Given the description of an element on the screen output the (x, y) to click on. 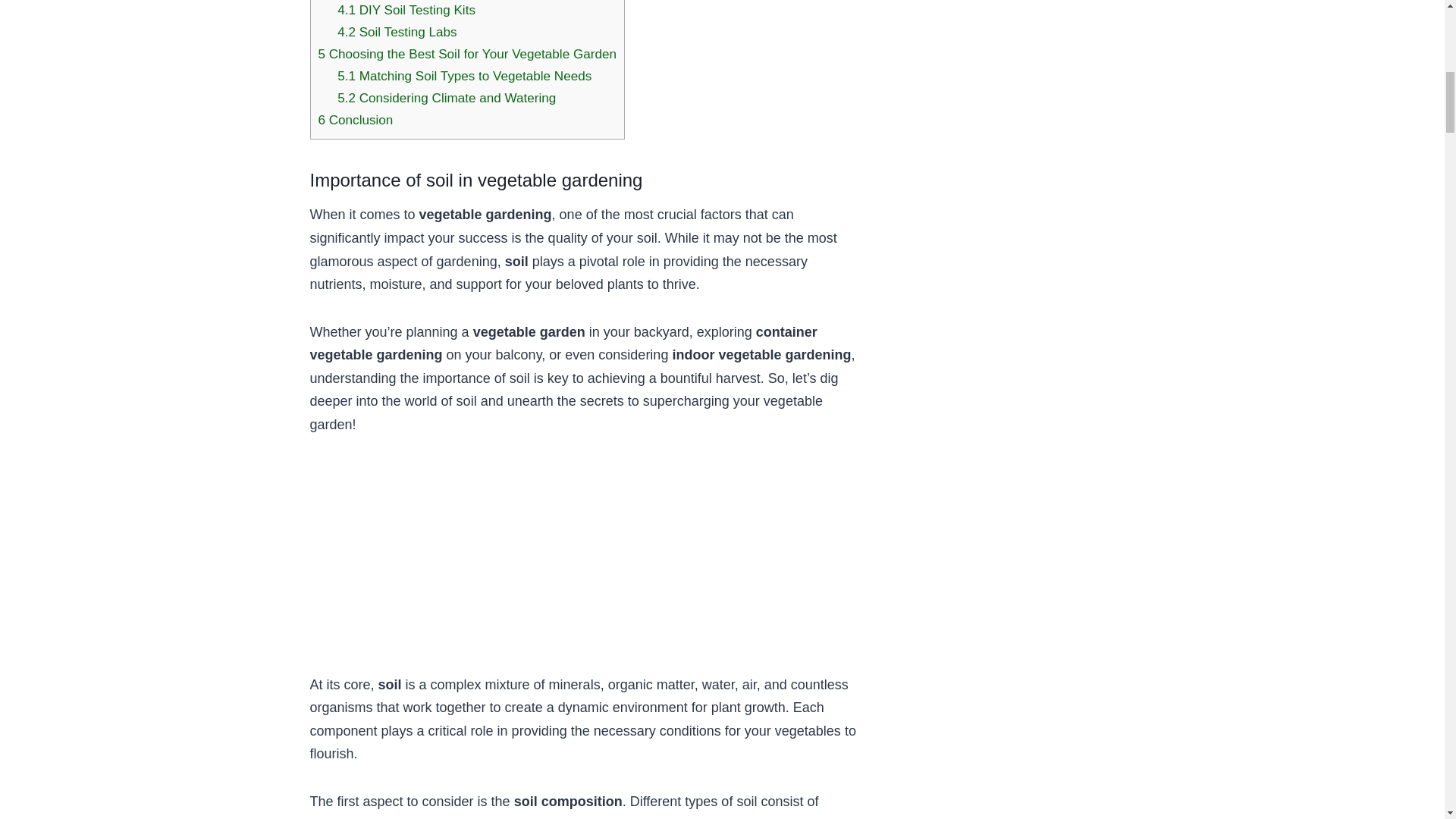
5 Choosing the Best Soil for Your Vegetable Garden (466, 53)
4.2 Soil Testing Labs (397, 32)
5.1 Matching Soil Types to Vegetable Needs (464, 75)
4.1 DIY Soil Testing Kits (406, 10)
6 Conclusion (355, 120)
Advertisement (583, 567)
5.2 Considering Climate and Watering (446, 97)
